Given the description of an element on the screen output the (x, y) to click on. 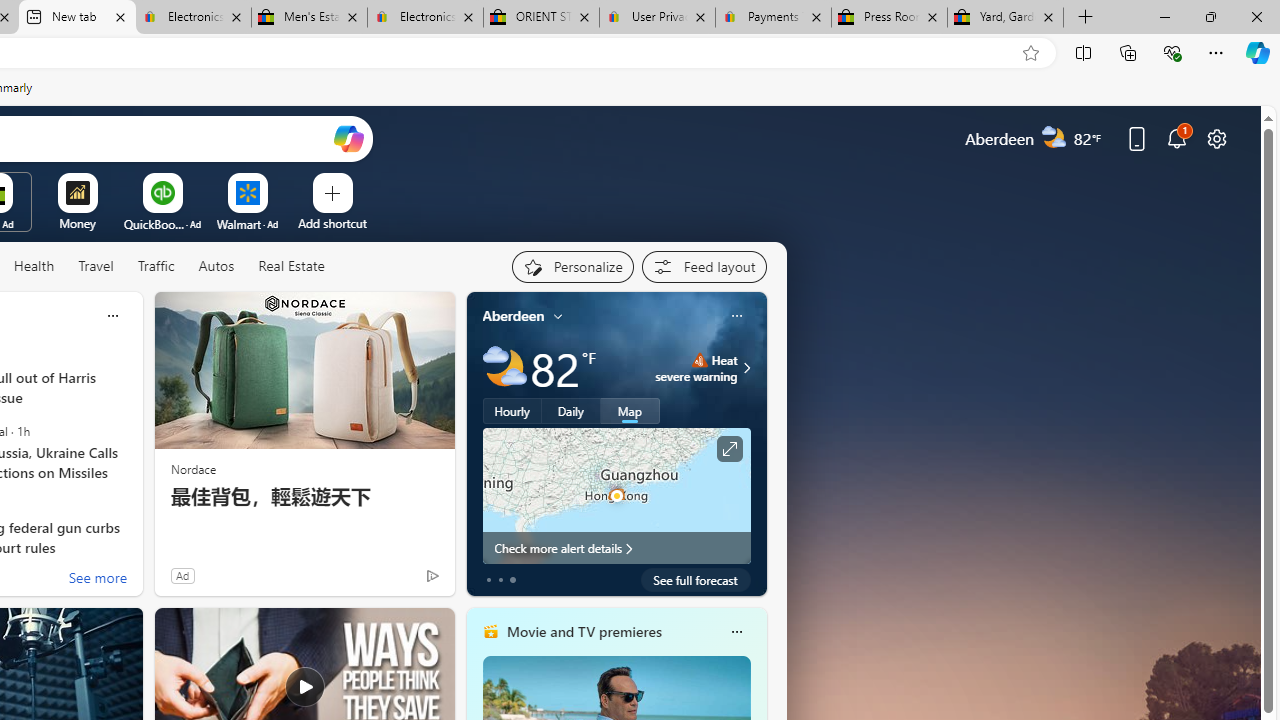
Movie and TV premieres (583, 631)
Heat - Severe Heat severe warning (696, 367)
Larger map  (616, 495)
See full forecast (695, 579)
My location (558, 315)
Aberdeen (513, 315)
Page settings (1216, 138)
More Options (279, 179)
